Given the description of an element on the screen output the (x, y) to click on. 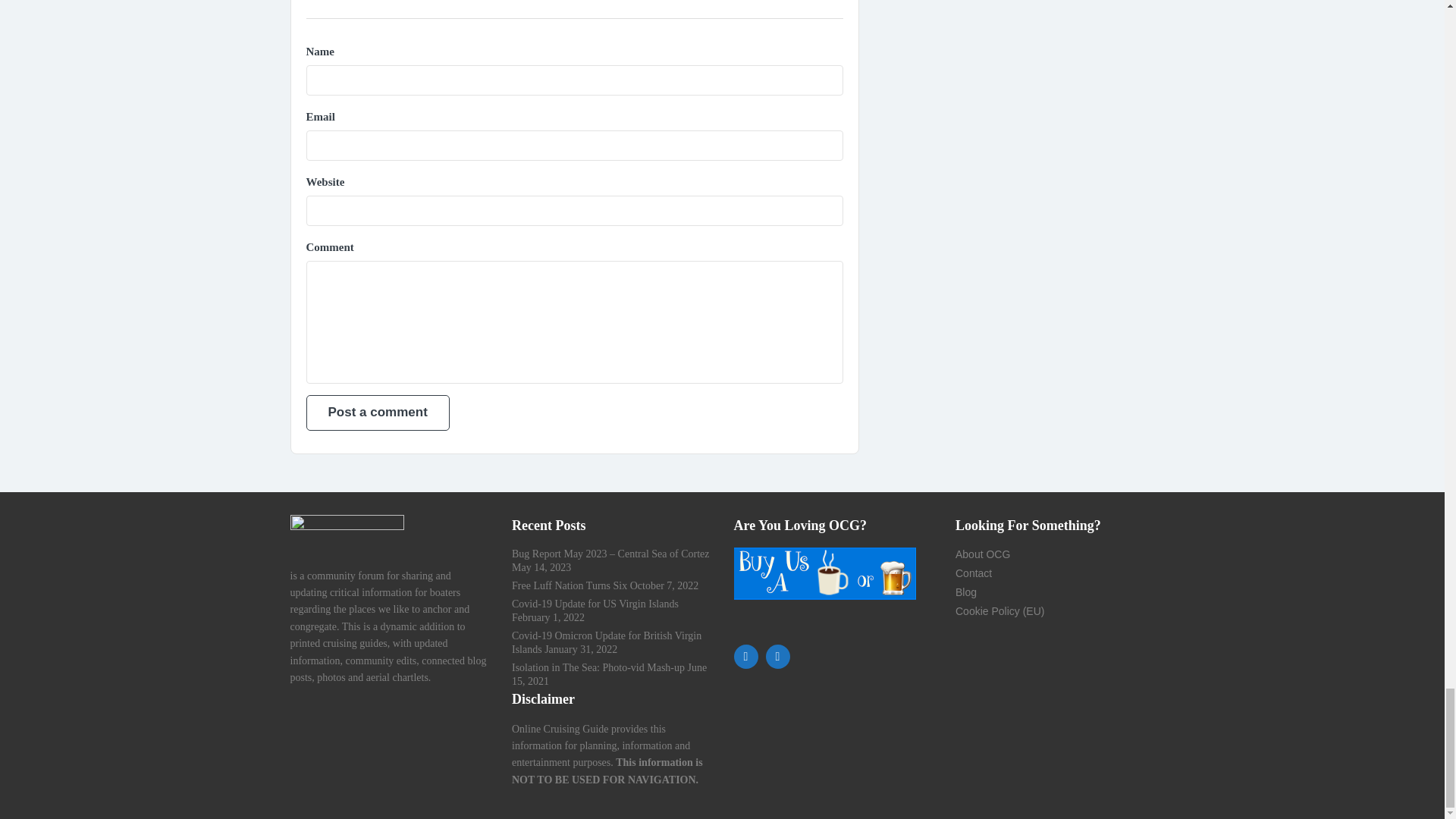
PayPal - The safer, easier way to pay online! (824, 573)
Post a comment (377, 411)
